Given the description of an element on the screen output the (x, y) to click on. 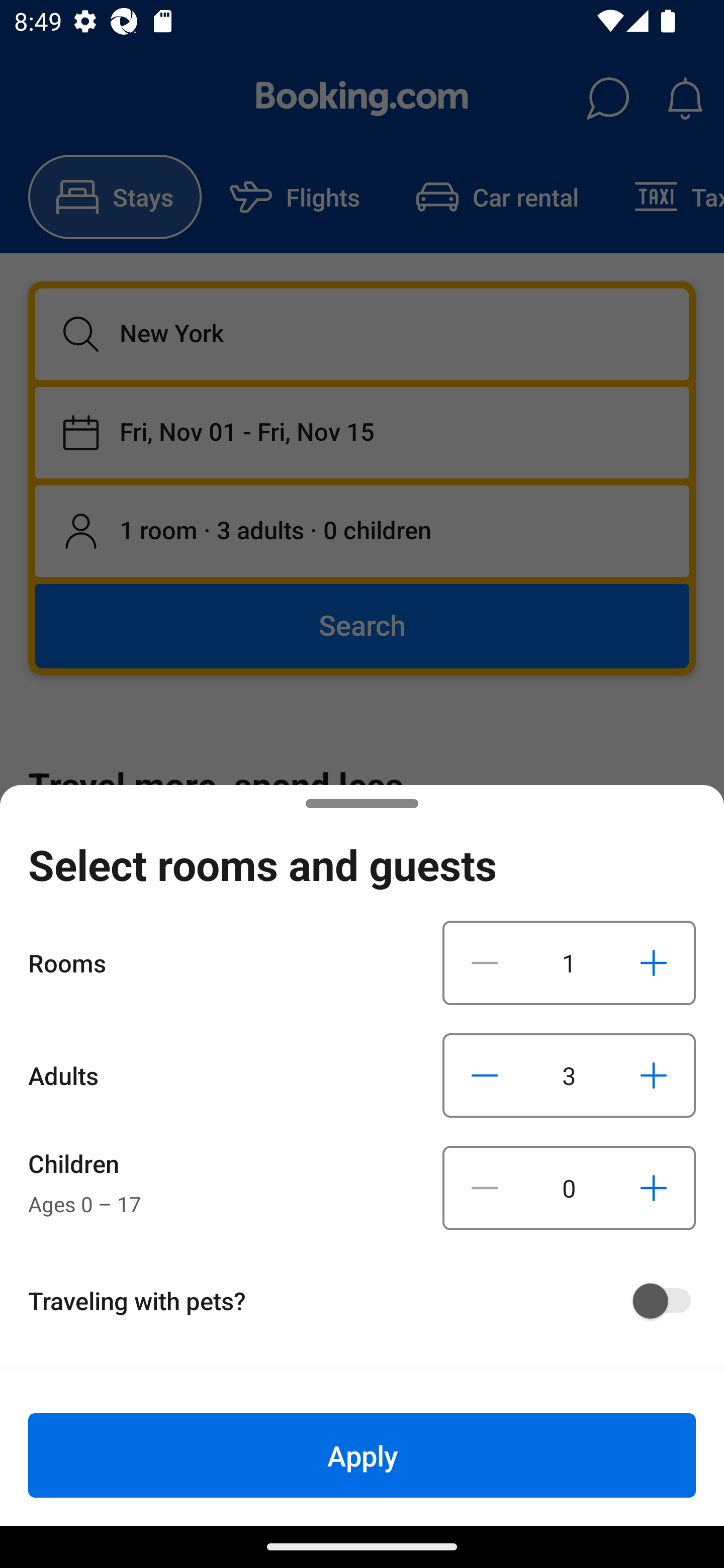
Decrease (484, 962)
Increase (653, 962)
Decrease (484, 1075)
Increase (653, 1075)
Decrease (484, 1188)
Increase (653, 1188)
Traveling with pets? (369, 1300)
Apply (361, 1454)
